Given the description of an element on the screen output the (x, y) to click on. 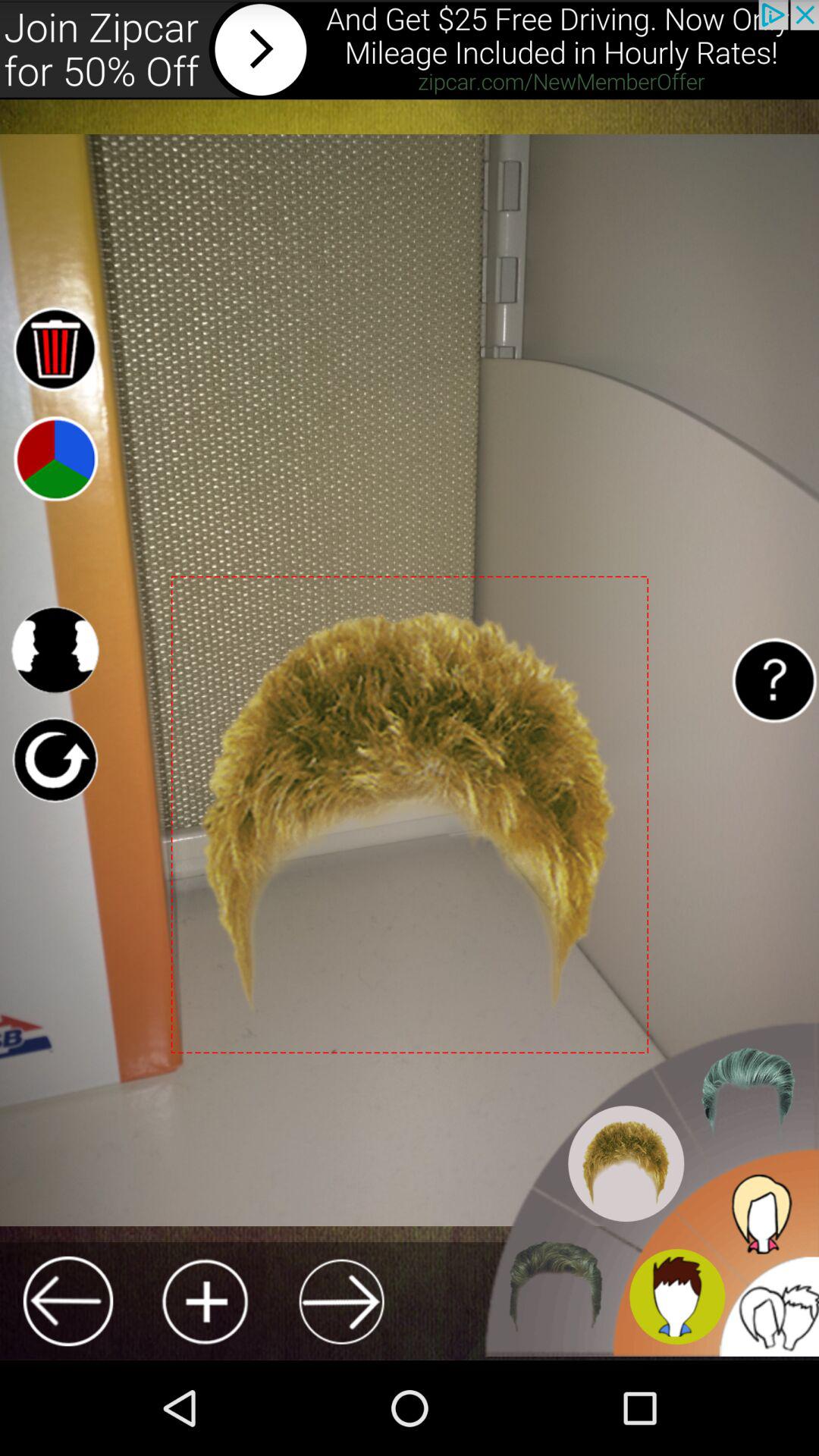
refresh page (55, 759)
